Given the description of an element on the screen output the (x, y) to click on. 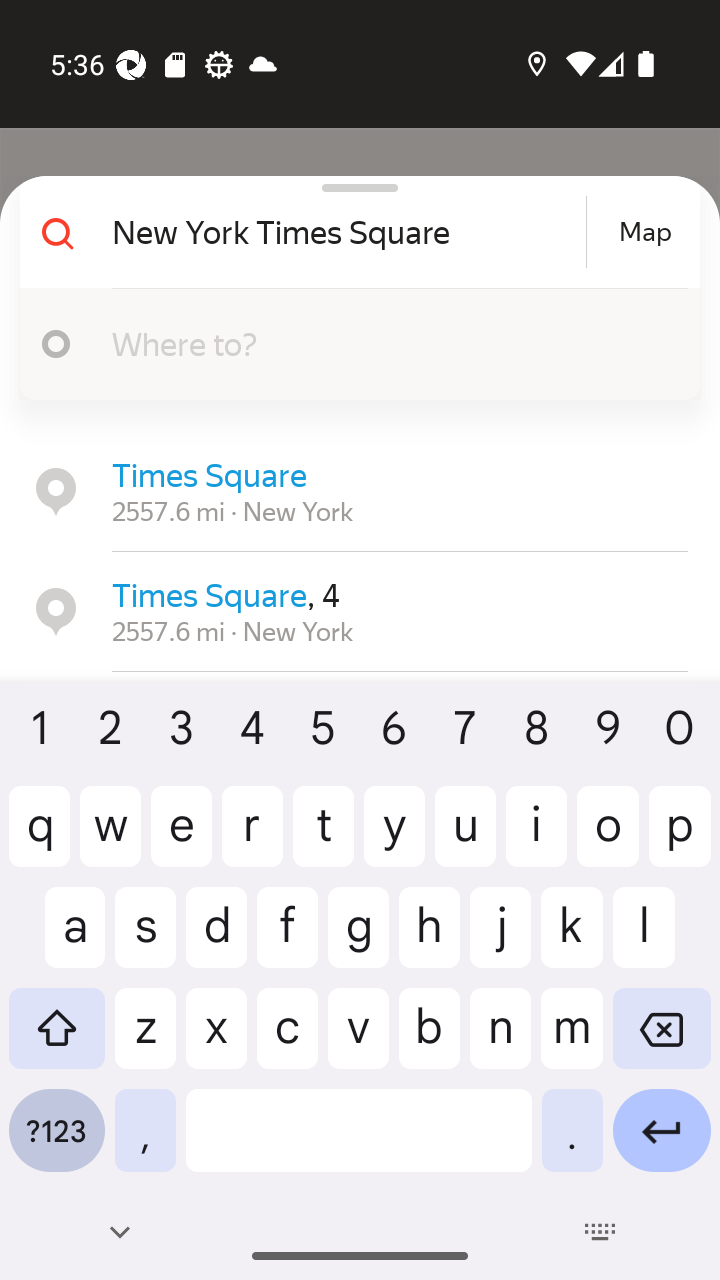
New York Times Square Map Map (352, 232)
Map (645, 232)
New York Times Square (346, 232)
Where to? (352, 343)
Where to? (373, 343)
